Given the description of an element on the screen output the (x, y) to click on. 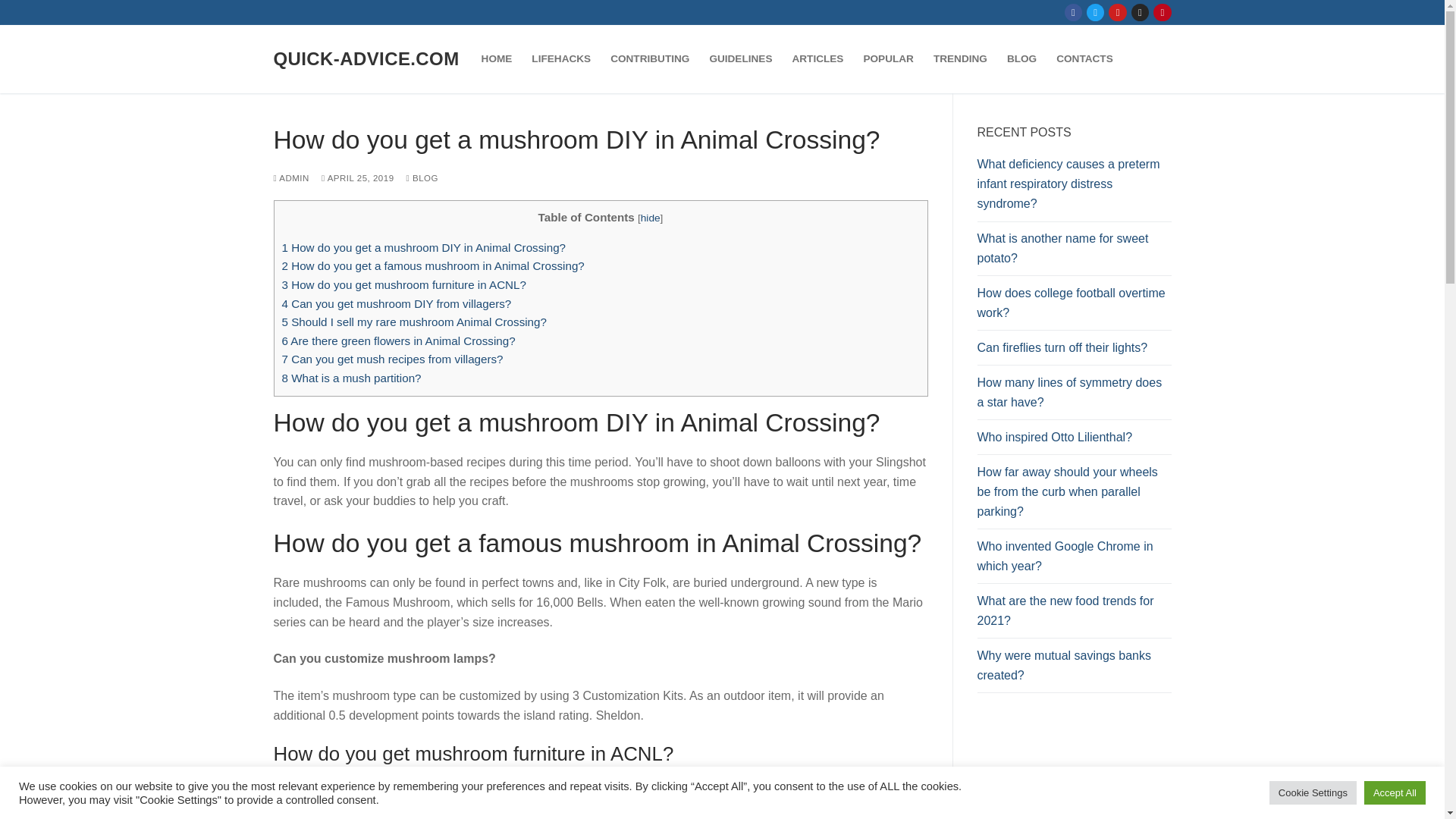
HOME (496, 59)
hide (650, 217)
GUIDELINES (739, 59)
TRENDING (960, 59)
Instagram (1139, 12)
LIFEHACKS (560, 59)
APRIL 25, 2019 (357, 177)
CONTACTS (1084, 59)
4 Can you get mushroom DIY from villagers? (397, 303)
Twitter (1095, 12)
7 Can you get mush recipes from villagers? (392, 358)
5 Should I sell my rare mushroom Animal Crossing? (414, 321)
Facebook (1073, 12)
QUICK-ADVICE.COM (365, 58)
Pinterest (1162, 12)
